Given the description of an element on the screen output the (x, y) to click on. 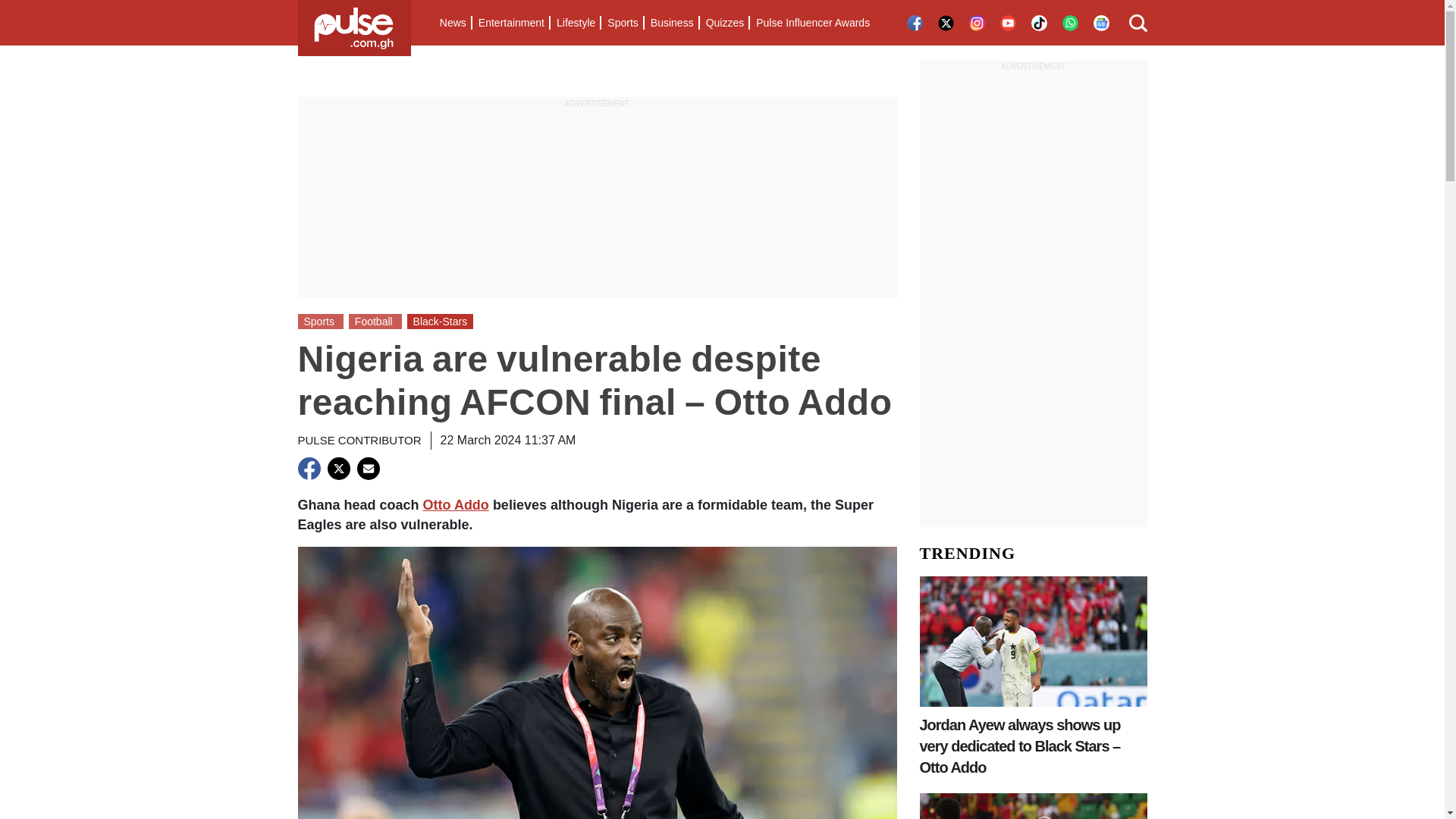
Sports (622, 22)
Entertainment (510, 22)
Lifestyle (575, 22)
Business (672, 22)
